Given the description of an element on the screen output the (x, y) to click on. 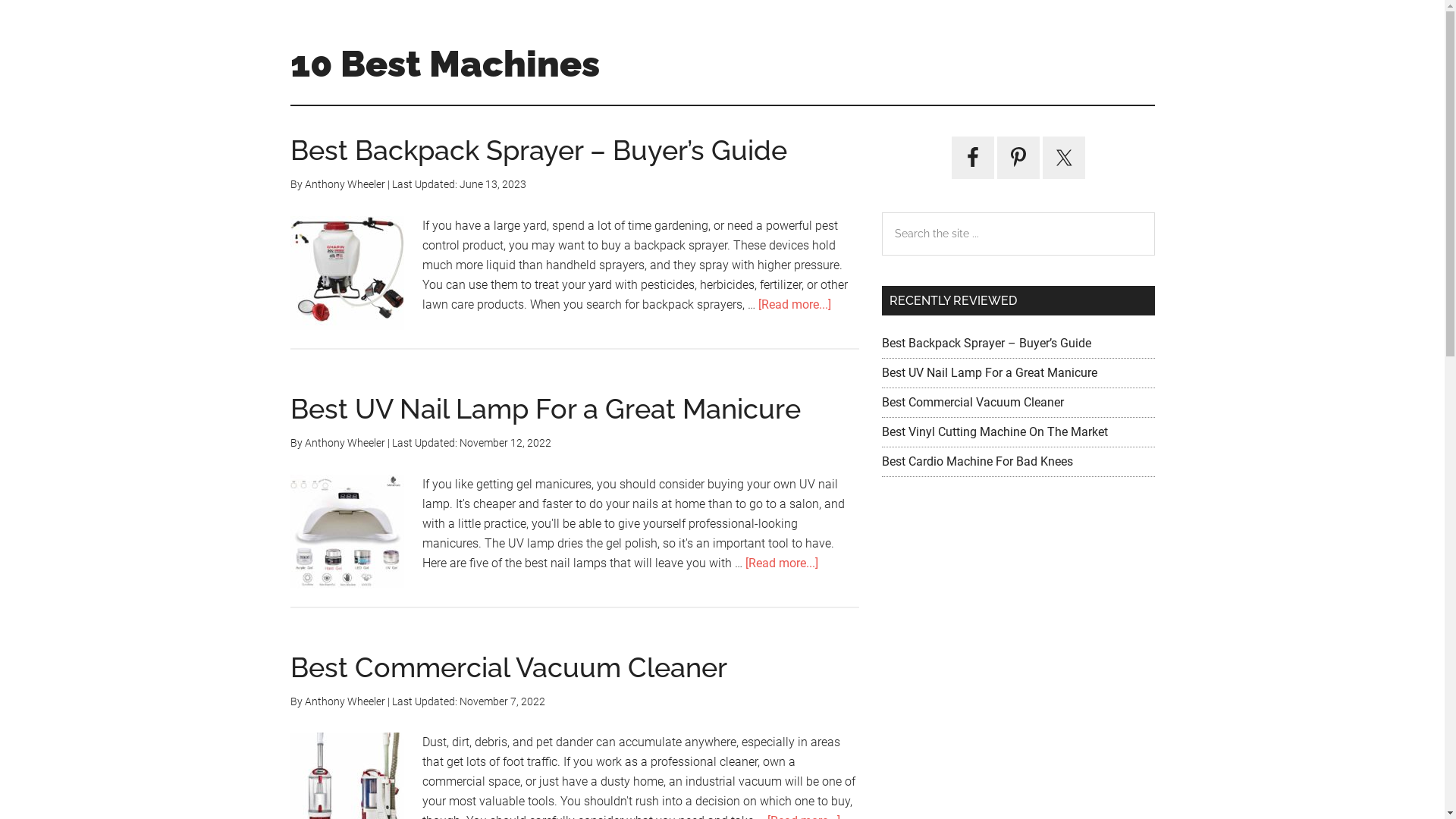
Best Vinyl Cutting Machine On The Market Element type: text (994, 431)
10 Best Machines Element type: text (444, 63)
[Read more...]
about Best UV Nail Lamp For a Great Manicure Element type: text (780, 562)
Best UV Nail Lamp For a Great Manicure Element type: text (544, 408)
Best Cardio Machine For Bad Knees Element type: text (976, 461)
Best Commercial Vacuum Cleaner Element type: text (507, 666)
Search Element type: text (1154, 211)
Skip to main content Element type: text (0, 0)
Best Commercial Vacuum Cleaner Element type: text (972, 402)
Best UV Nail Lamp For a Great Manicure Element type: text (988, 372)
